Given the description of an element on the screen output the (x, y) to click on. 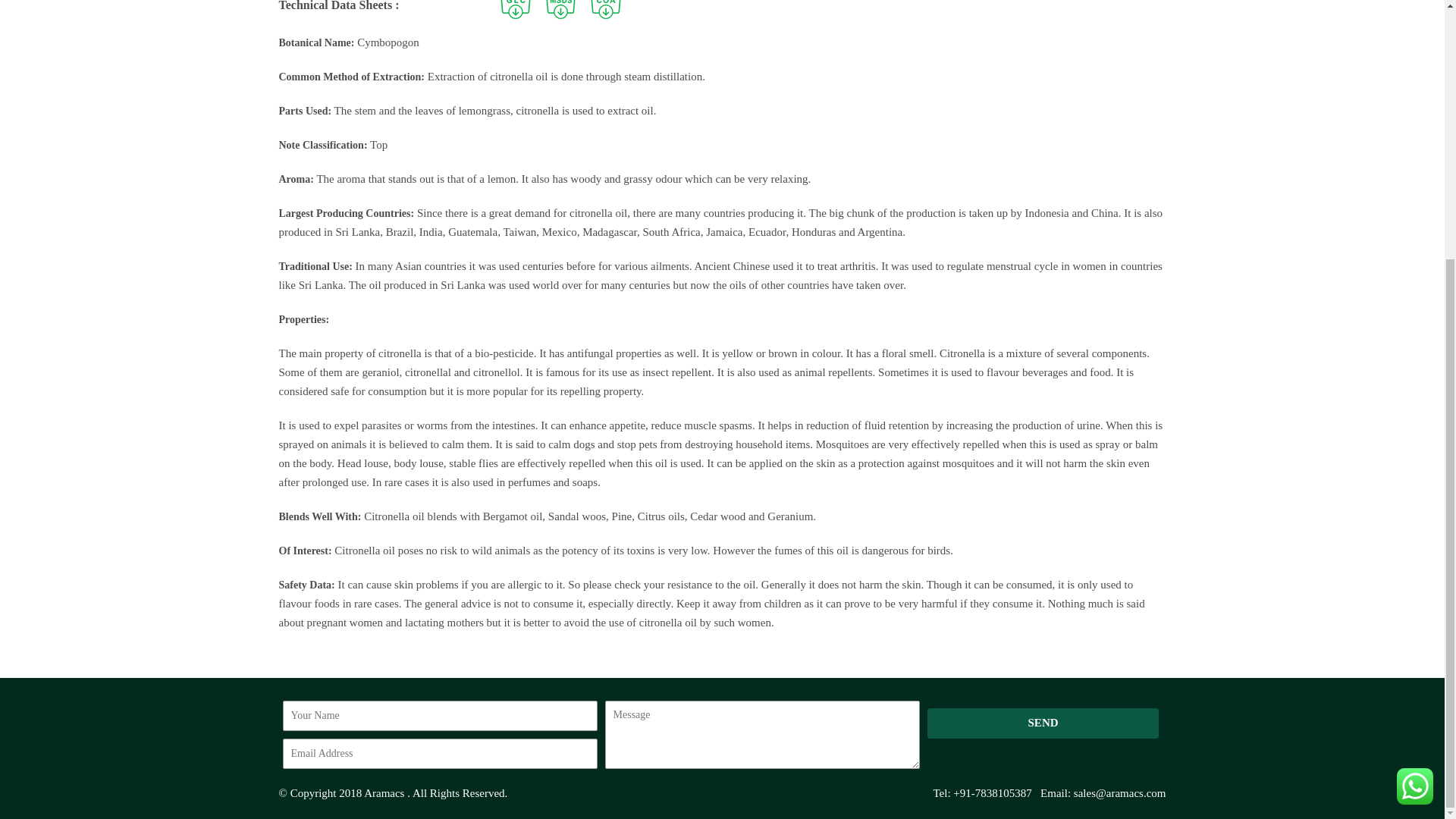
Send (1042, 722)
Aramacs (384, 792)
Send (1042, 722)
